Given the description of an element on the screen output the (x, y) to click on. 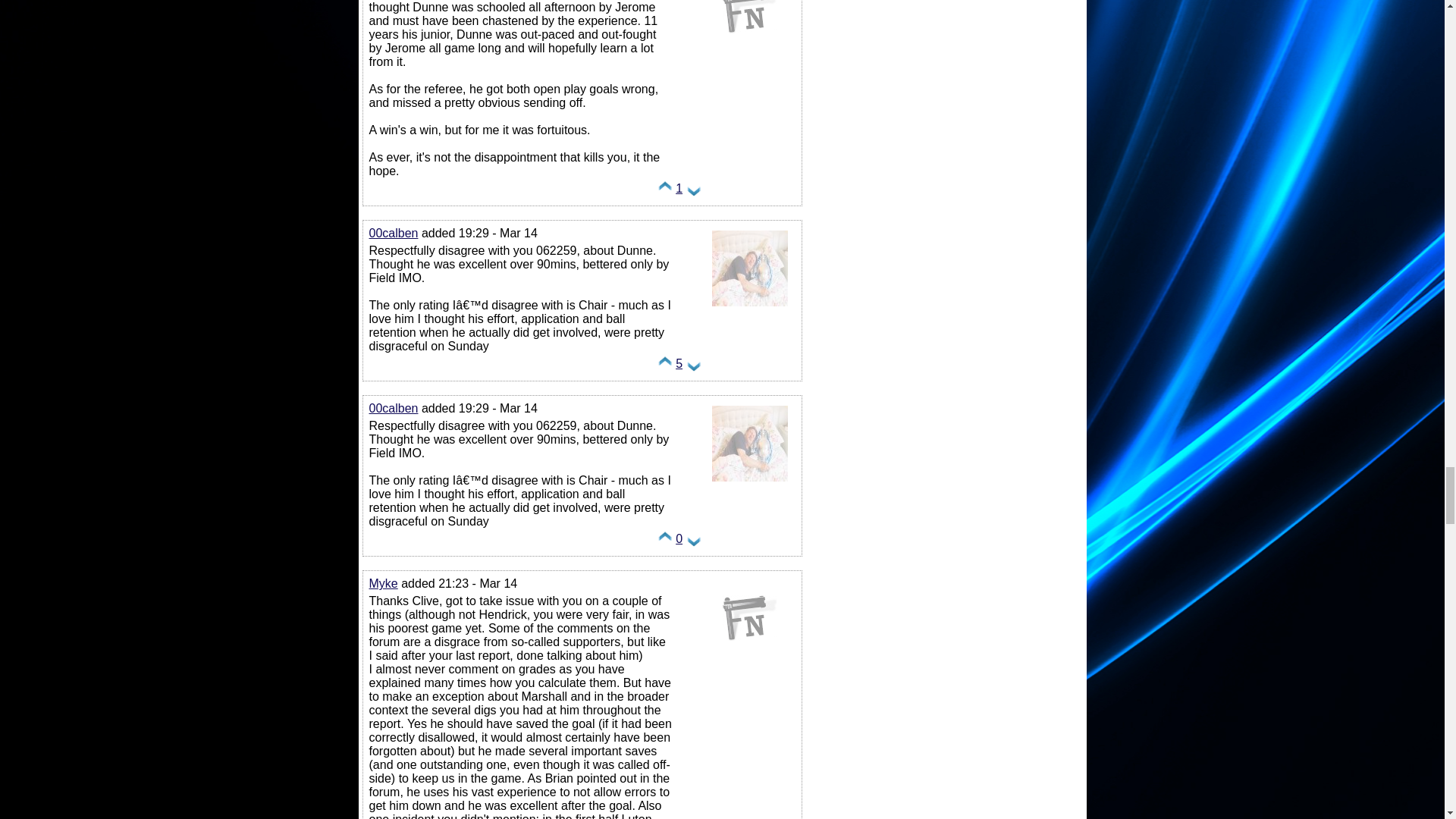
Myke is offline (749, 656)
062259 is offline (749, 48)
Click if you agree with this post (665, 192)
Click if you agree with this post (665, 542)
Click if you disagree with this post (692, 192)
00calben is offline (749, 481)
Click if you agree with this post (665, 367)
00calben is offline (749, 305)
Click if you disagree with this post (692, 542)
Click if you disagree with this post (692, 367)
